Given the description of an element on the screen output the (x, y) to click on. 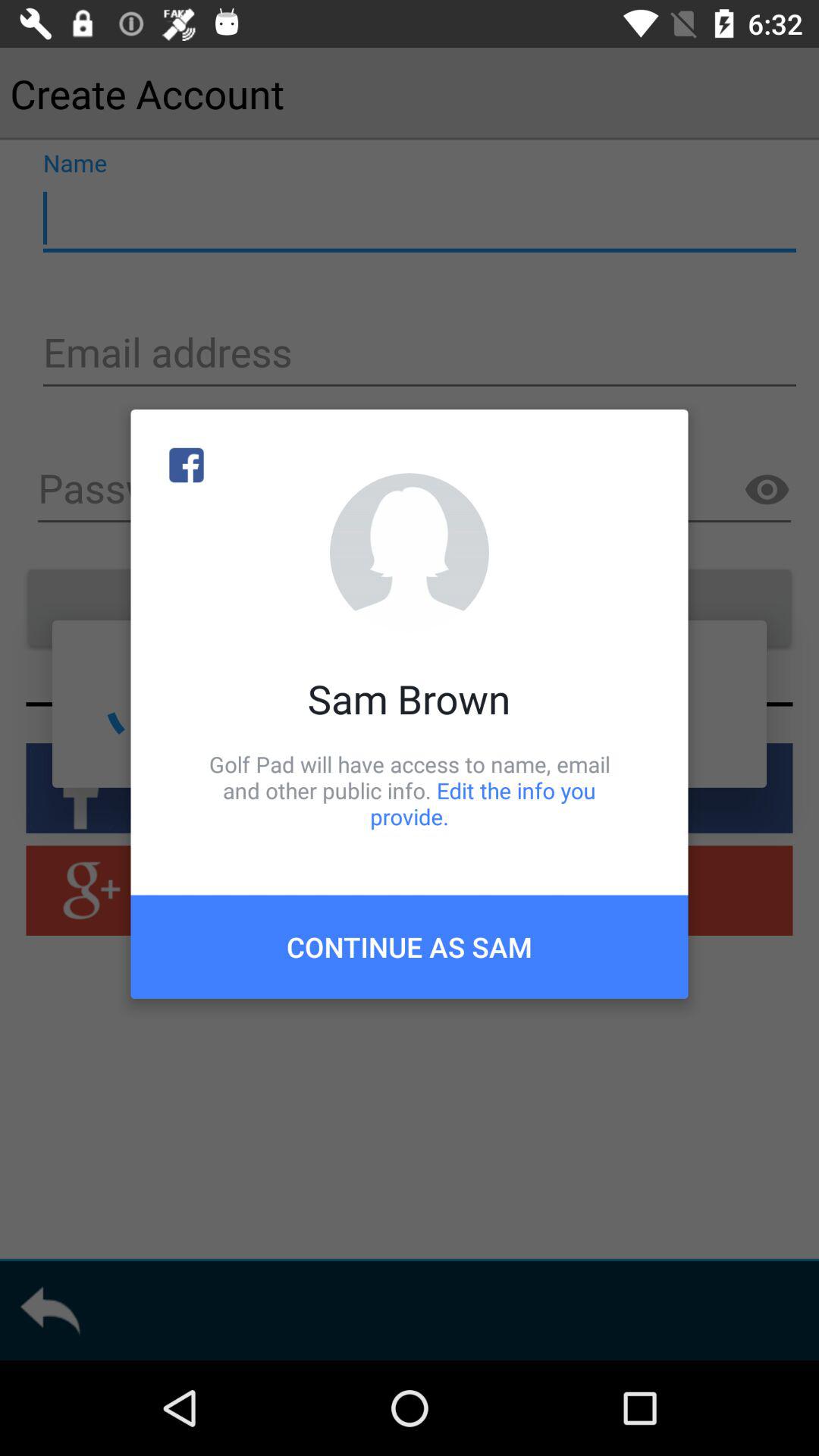
jump until continue as sam (409, 946)
